Given the description of an element on the screen output the (x, y) to click on. 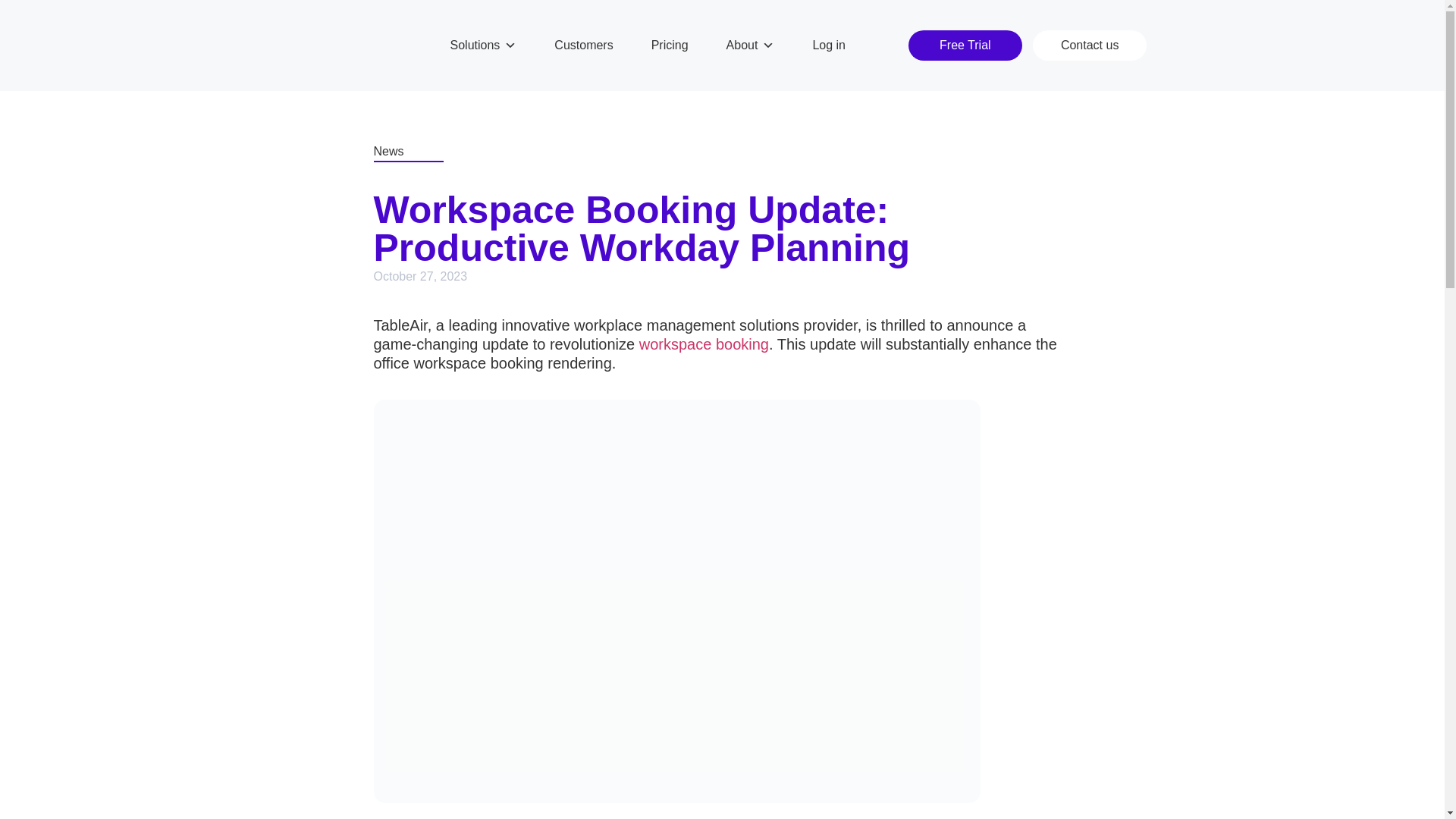
Free Trial (965, 45)
October 27, 2023 (419, 275)
Customers (583, 45)
workspace booking (703, 343)
About (751, 45)
Solutions (483, 45)
Contact us (1089, 45)
